Given the description of an element on the screen output the (x, y) to click on. 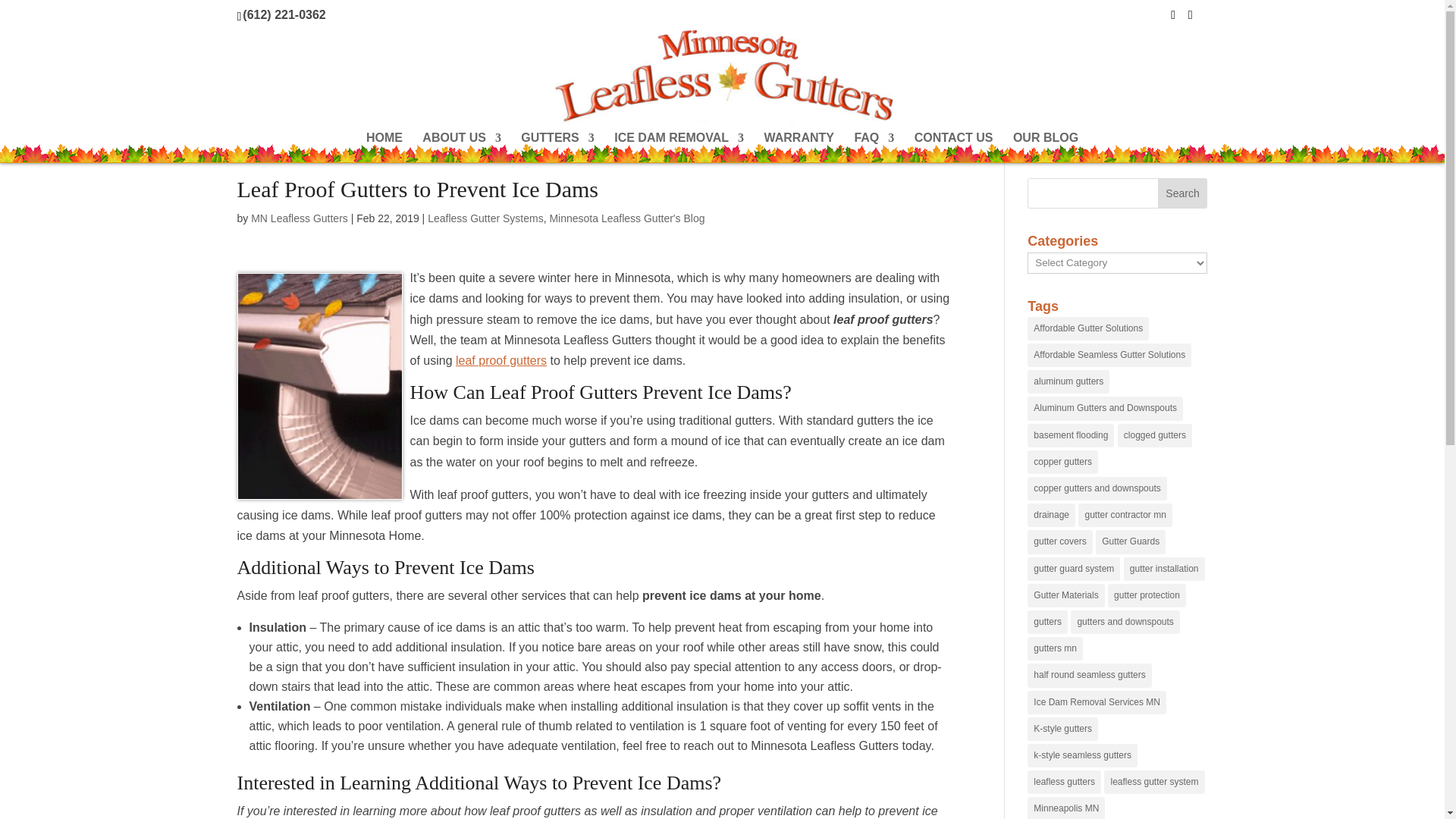
Aluminum Gutters and Downspouts (1104, 408)
Affordable Gutter Solutions (1087, 328)
drainage (1051, 515)
basement flooding (1070, 435)
OUR BLOG (1045, 147)
gutter contractor mn (1125, 515)
HOME (384, 147)
MN Leafless Gutters (298, 218)
WARRANTY (799, 147)
Gutter Guards (1131, 541)
clogged gutters (1155, 435)
aluminum gutters (1068, 381)
ICE DAM REMOVAL (679, 147)
ABOUT US (461, 147)
Posts by MN Leafless Gutters (298, 218)
